Given the description of an element on the screen output the (x, y) to click on. 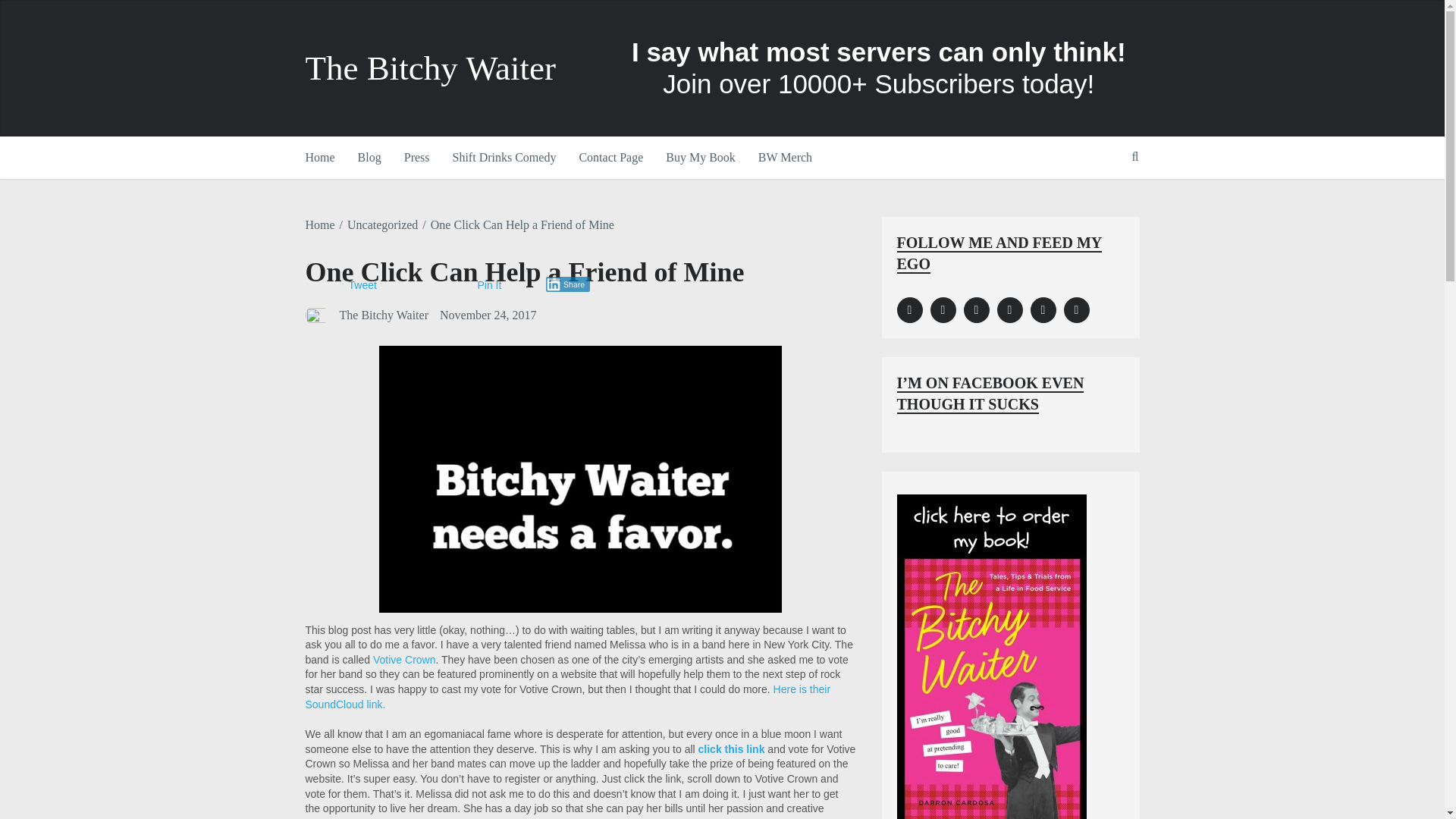
Email (1075, 309)
Tweet (363, 285)
Twitter (1008, 309)
Facebook (908, 309)
Home (319, 224)
Pin It (489, 285)
LinkedIn (975, 309)
YouTube (1042, 309)
Shift Drinks Comedy (504, 157)
Press (417, 157)
Uncategorized (382, 224)
click this link (731, 748)
Share (568, 283)
BW Merch (785, 157)
Instagram (942, 309)
